Given the description of an element on the screen output the (x, y) to click on. 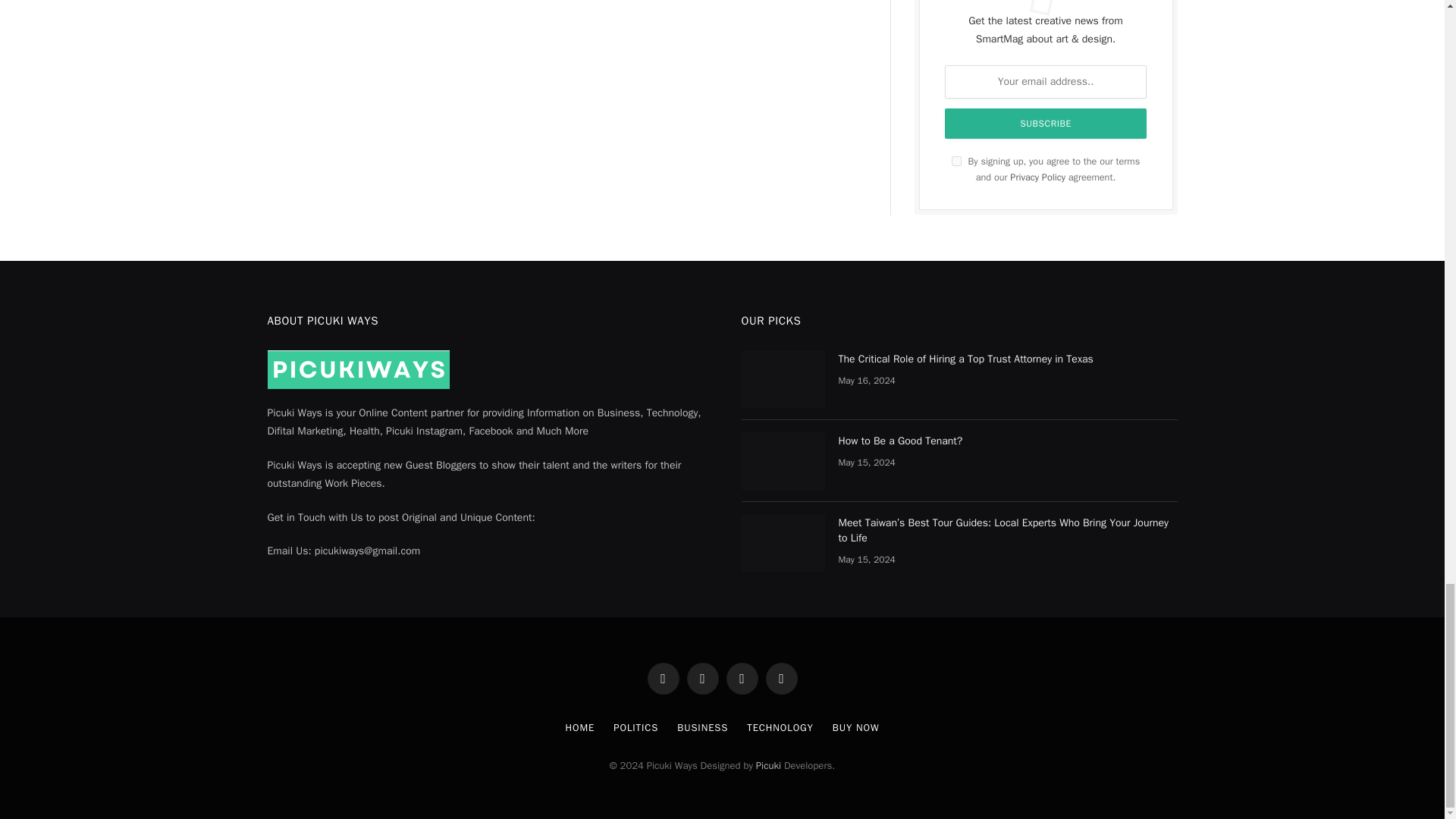
Subscribe (1045, 123)
on (956, 161)
